Given the description of an element on the screen output the (x, y) to click on. 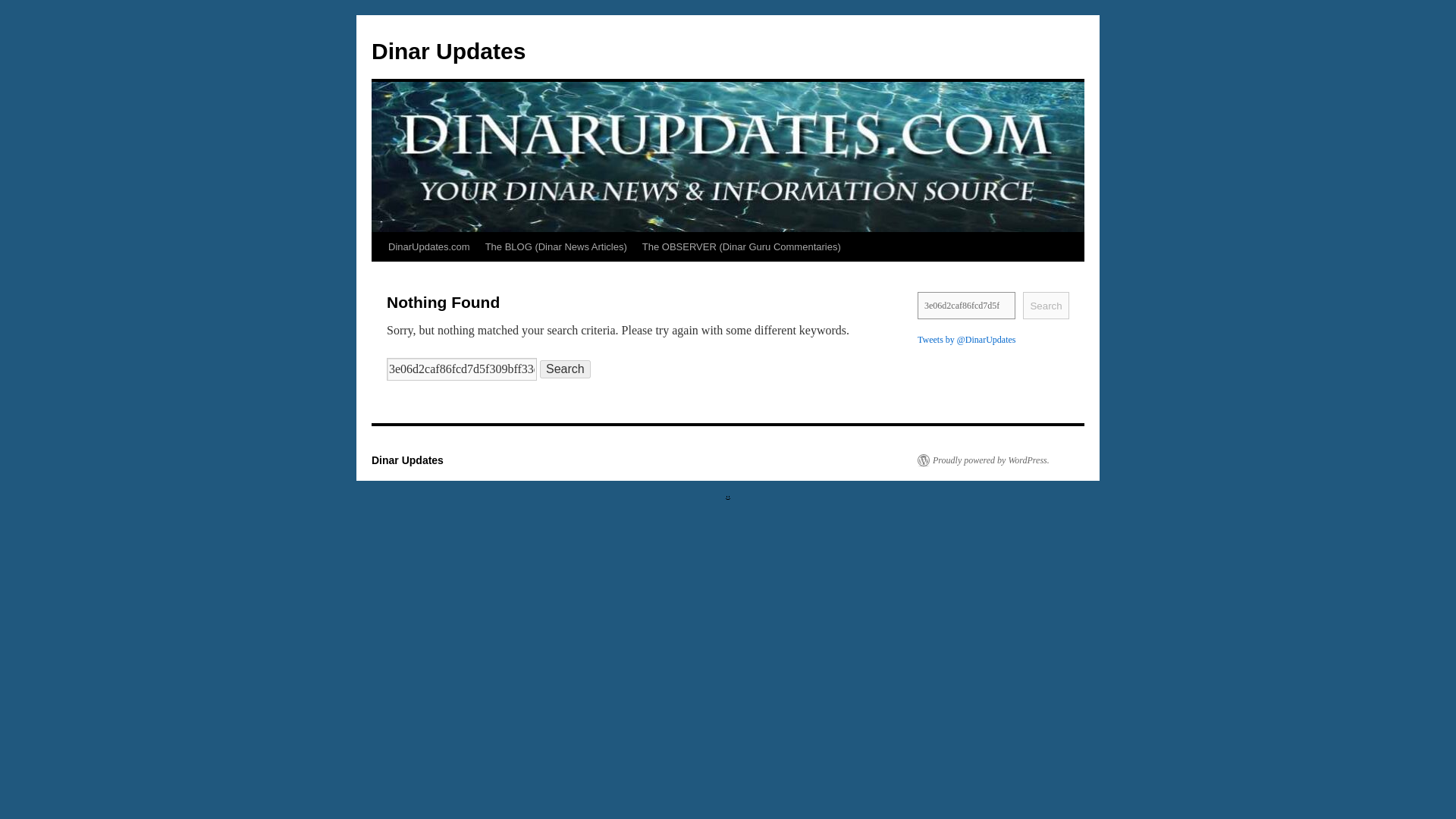
3e06d2caf86fcd7d5f309bff33efac50 (965, 305)
3e06d2caf86fcd7d5f309bff33efac50 (965, 305)
Search (565, 369)
Search (565, 369)
Search (1045, 305)
3e06d2caf86fcd7d5f309bff33efac50 (462, 368)
Dinar Updates (448, 50)
DinarUpdates.com (428, 246)
Proudly powered by WordPress. (983, 460)
Dinar Updates (407, 460)
